Given the description of an element on the screen output the (x, y) to click on. 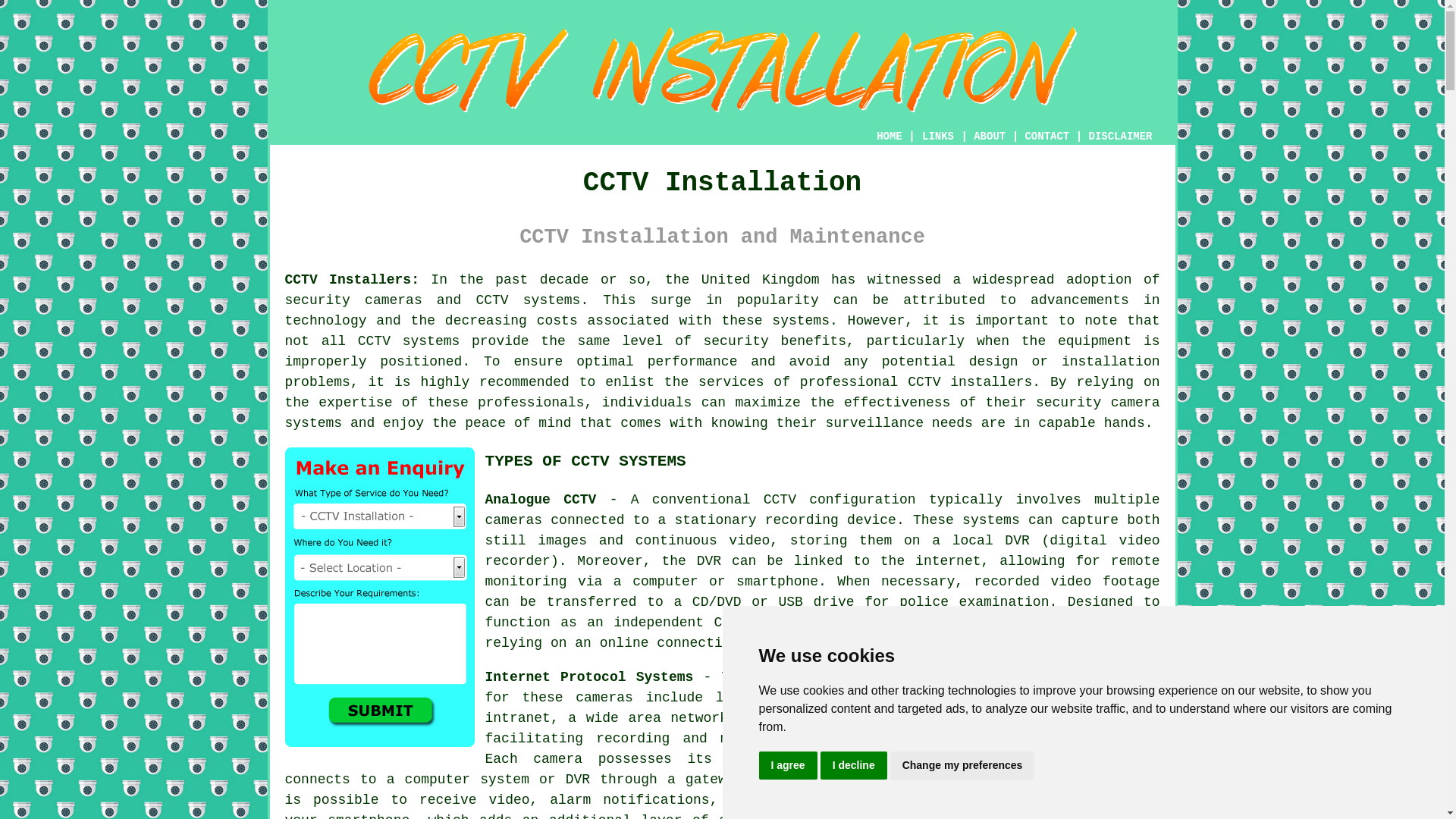
I decline (853, 765)
CCTV installers (969, 381)
I agree (787, 765)
Change my preferences (962, 765)
HOME (889, 136)
LINKS (938, 136)
CCTV Installation UK (1046, 741)
CCTV Installation UK (721, 69)
